Given the description of an element on the screen output the (x, y) to click on. 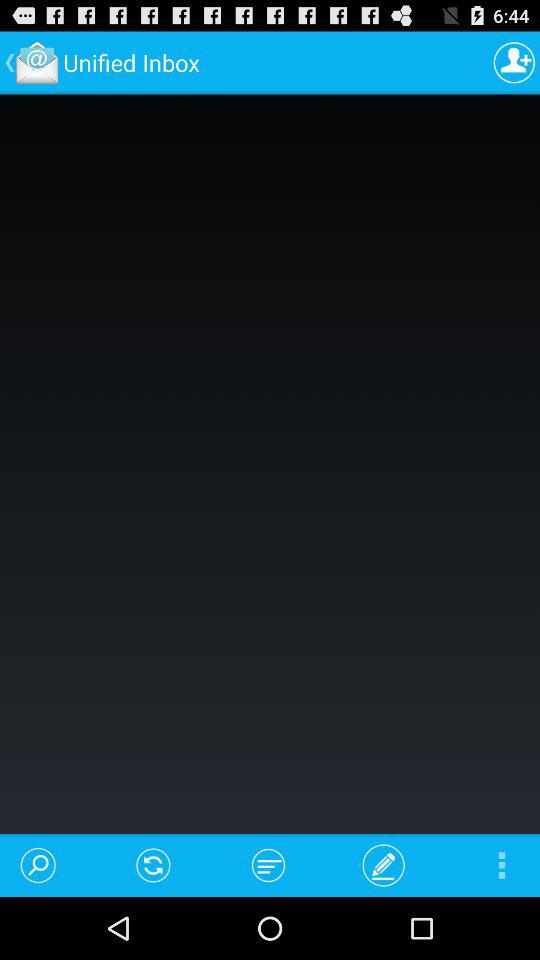
launch the app next to unified inbox item (514, 62)
